Given the description of an element on the screen output the (x, y) to click on. 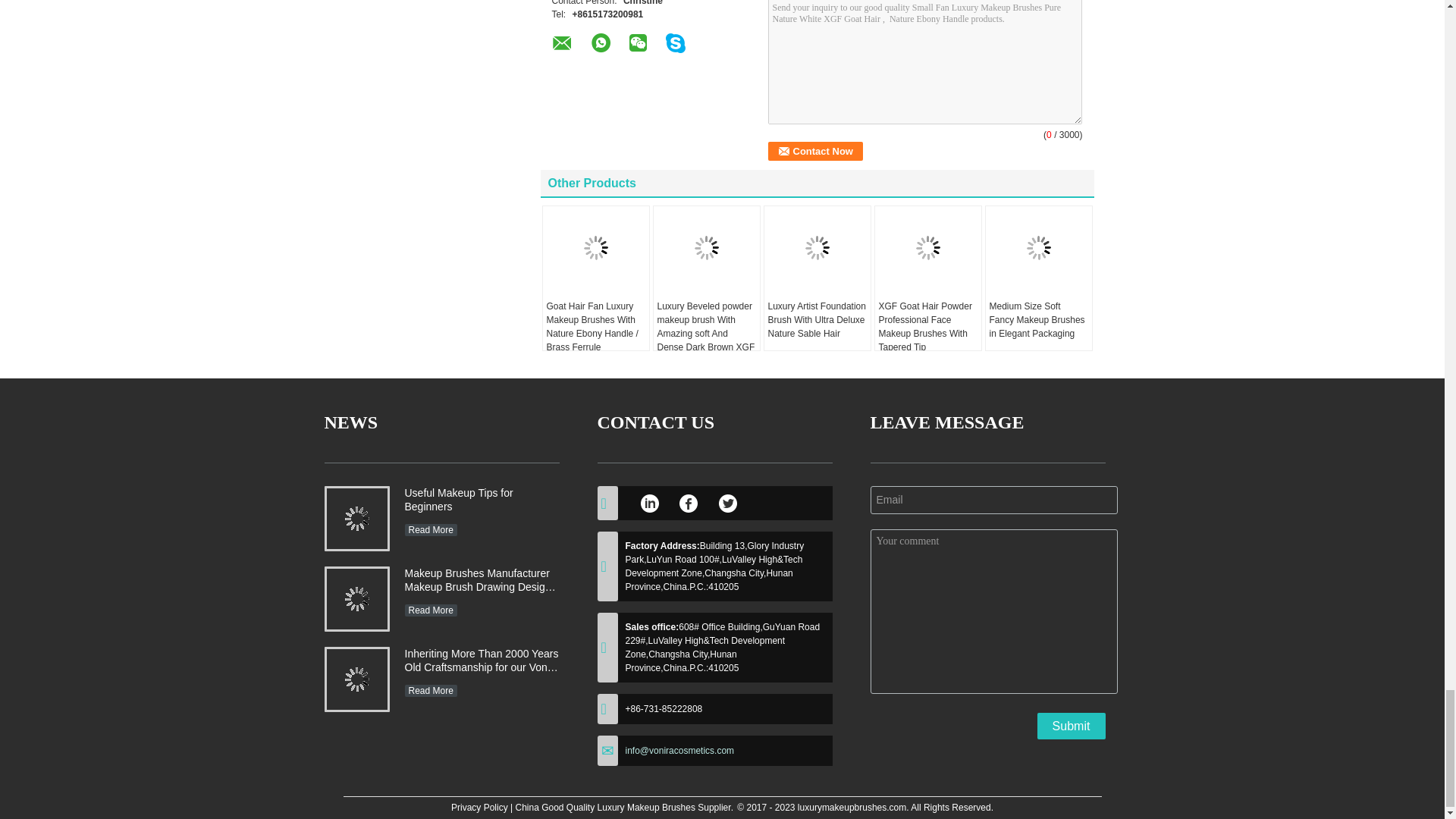
Submit (1070, 725)
Contact Now (814, 150)
